Given the description of an element on the screen output the (x, y) to click on. 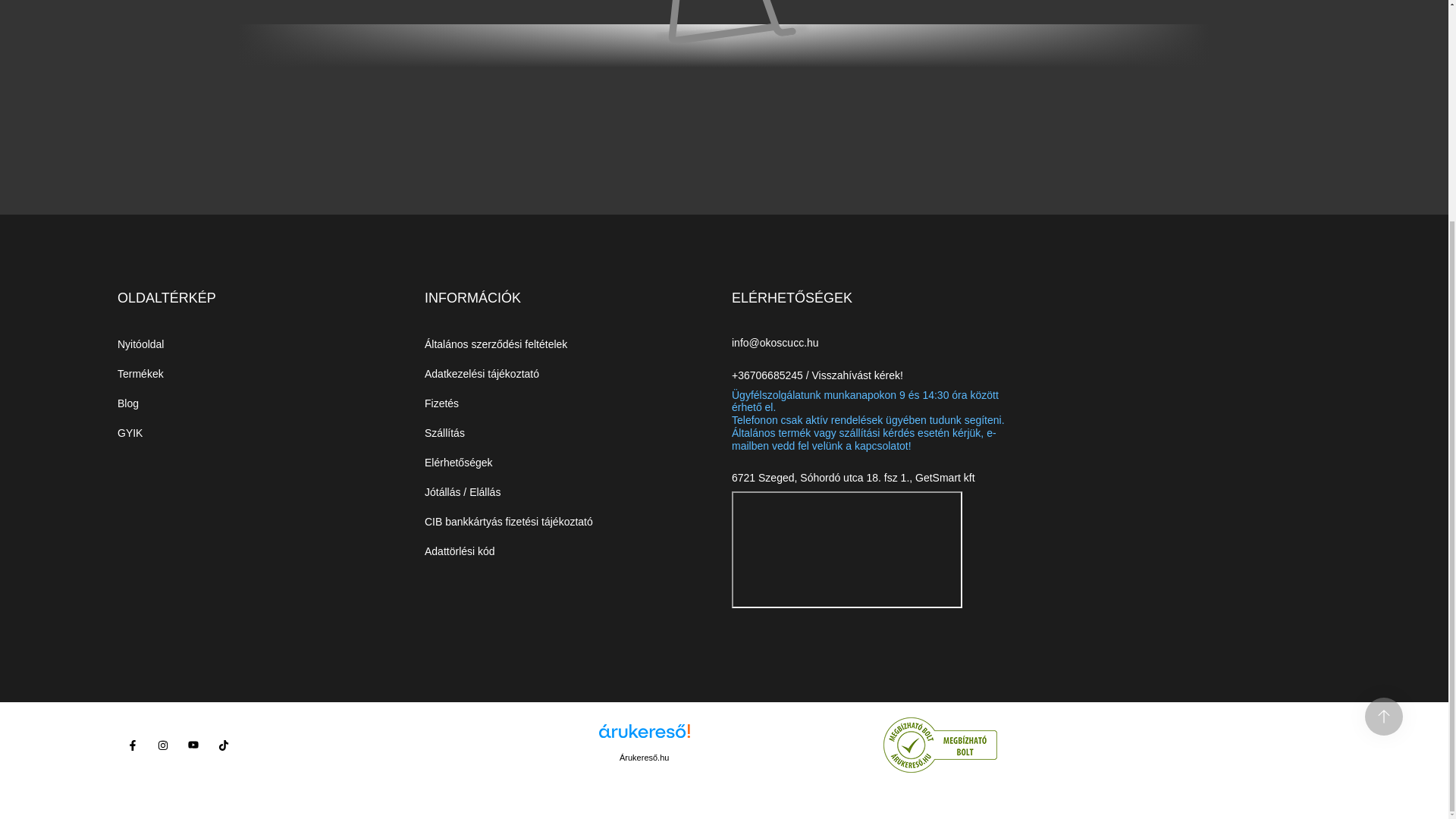
Blog (127, 403)
olcsobbat.hu (806, 744)
GYIK (129, 433)
Instagram (162, 745)
Facebook (132, 745)
Youtube (192, 745)
argep.hu (735, 744)
Tiktok (223, 745)
